Given the description of an element on the screen output the (x, y) to click on. 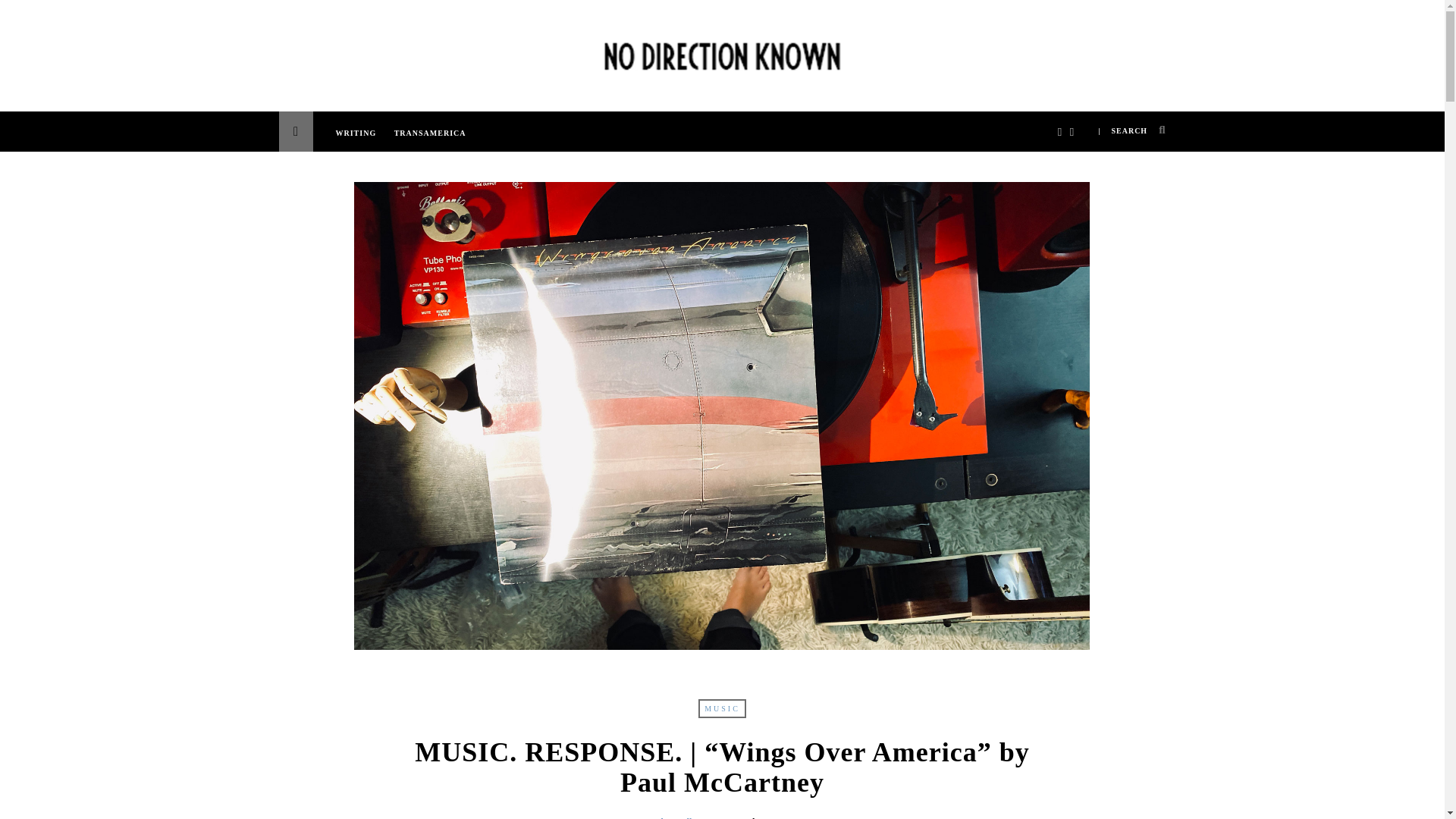
MUSIC (721, 708)
No Direction Known (721, 52)
Posts by thenoodleator (684, 817)
TRANSAMERICA (434, 141)
thenoodleator (684, 817)
WRITING (359, 141)
